Given the description of an element on the screen output the (x, y) to click on. 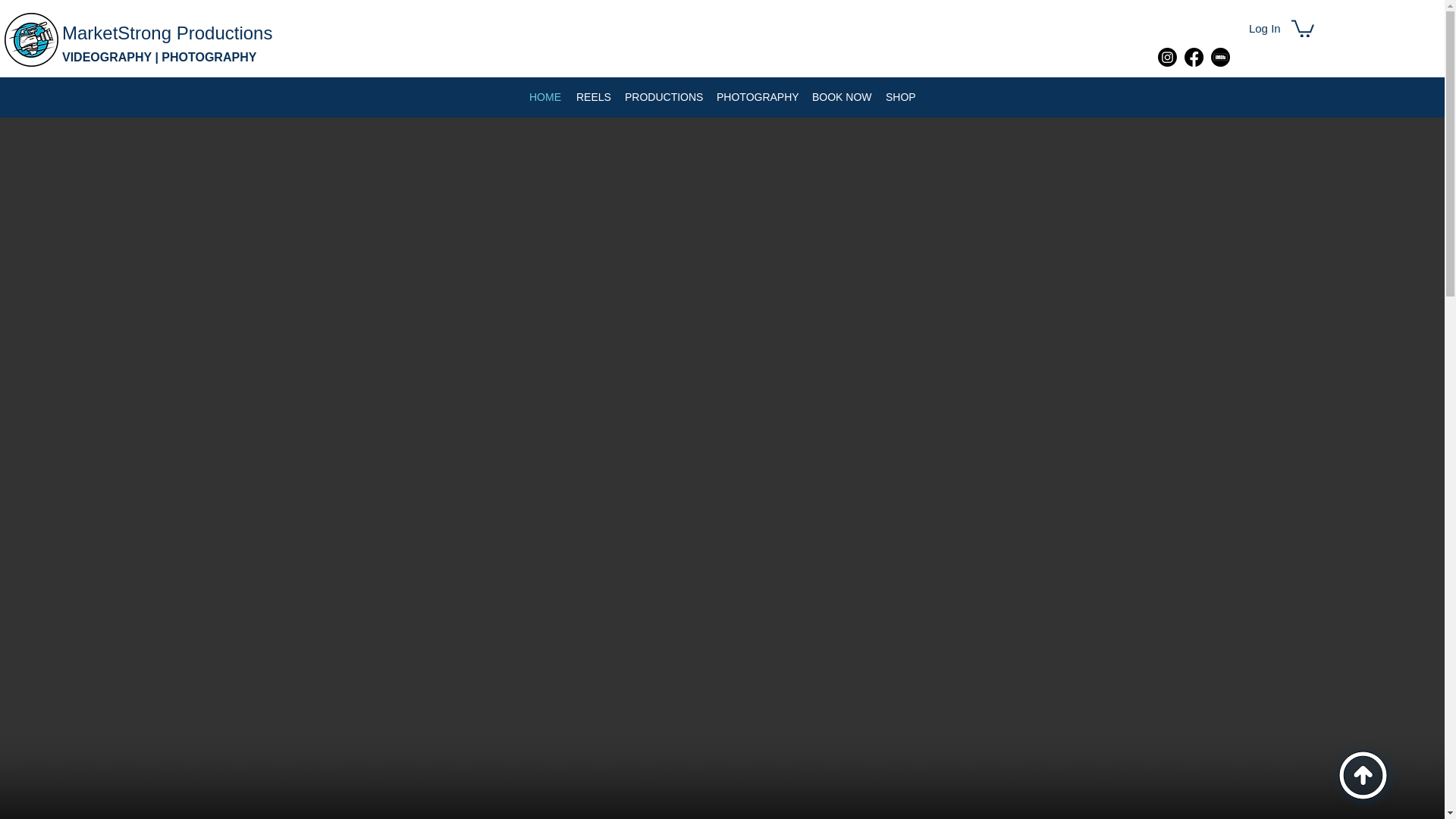
PHOTOGRAPHY (757, 97)
HOME (545, 97)
SHOP (900, 97)
REELS (593, 97)
BOOK NOW (841, 97)
Log In (1265, 27)
PRODUCTIONS (663, 97)
